Given the description of an element on the screen output the (x, y) to click on. 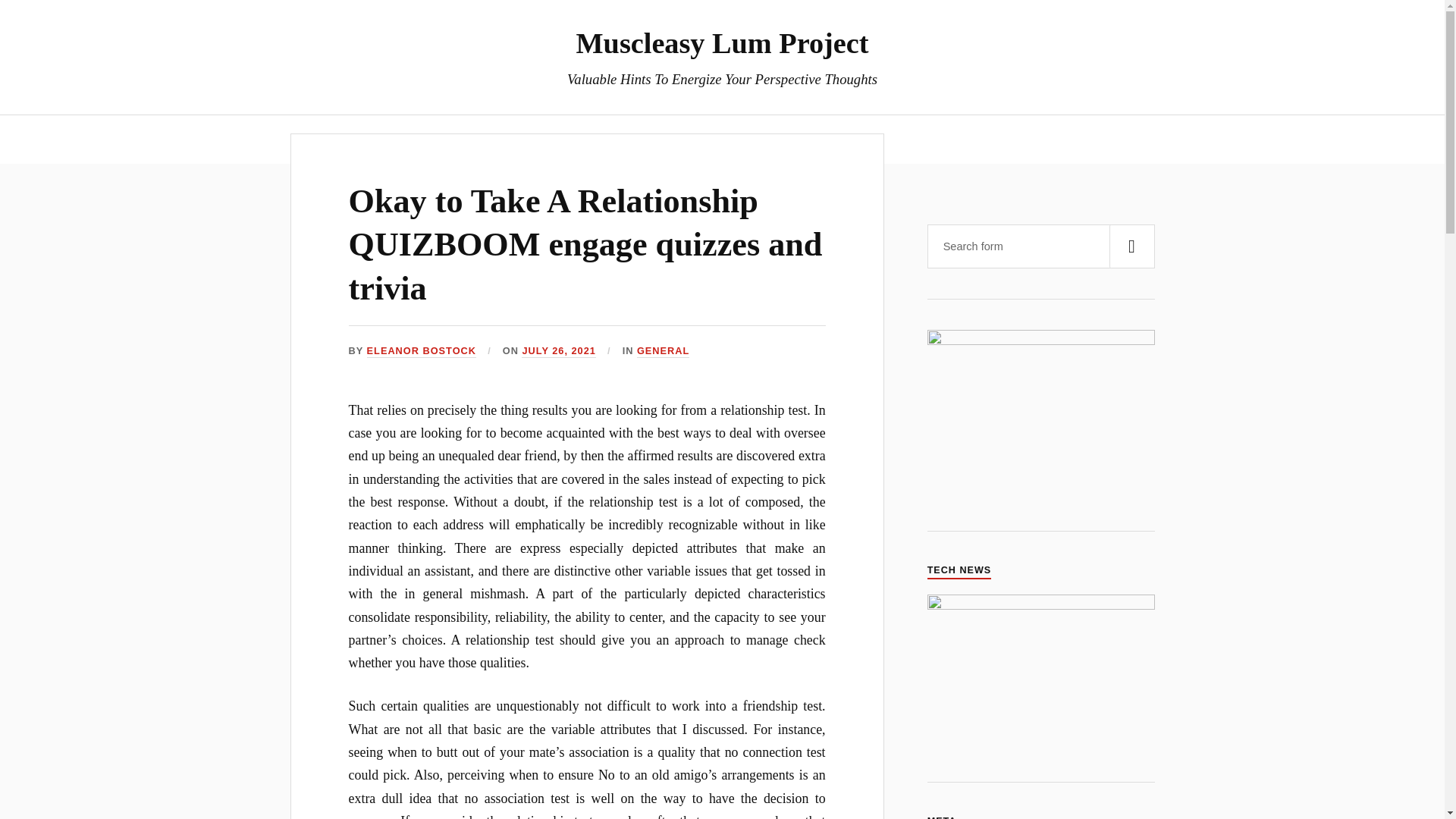
Posts by Eleanor Bostock (421, 350)
Muscleasy Lum Project (722, 42)
GENERAL (662, 350)
JULY 26, 2021 (558, 350)
ELEANOR BOSTOCK (421, 350)
Technology (749, 138)
